Given the description of an element on the screen output the (x, y) to click on. 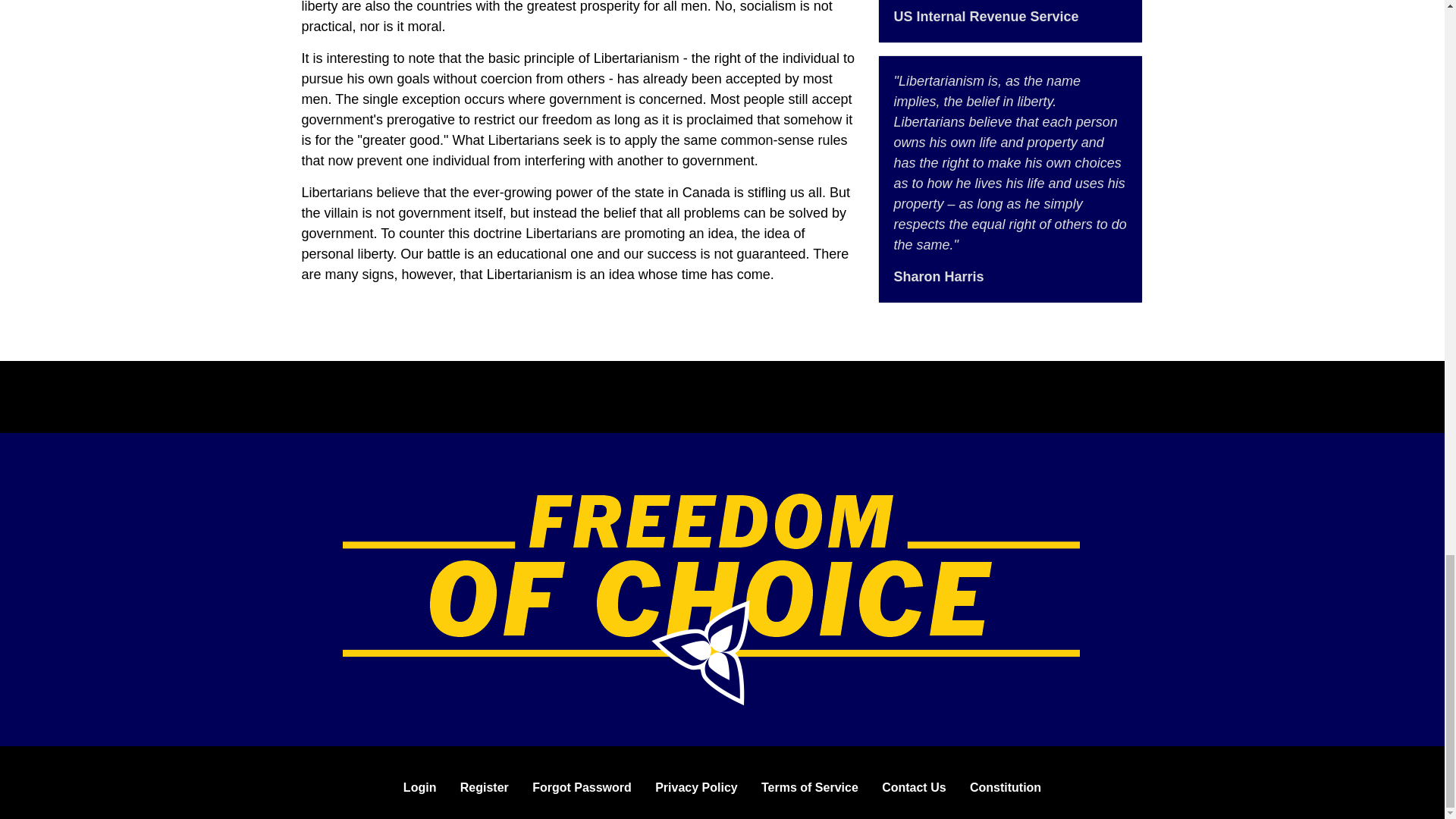
Freedom of Choice Platform (711, 598)
Contact Us (913, 788)
Party Constitution (1005, 788)
Register (484, 788)
Reset a forgotten password (581, 788)
Log in to your party member account (419, 788)
Constitution (1005, 788)
Privacy Policy (696, 788)
Forgot Password (581, 788)
Our website privacy policy (696, 788)
Party members can register for a website account (484, 788)
Terms of Service (810, 788)
Send us a message (913, 788)
Login (419, 788)
